Given the description of an element on the screen output the (x, y) to click on. 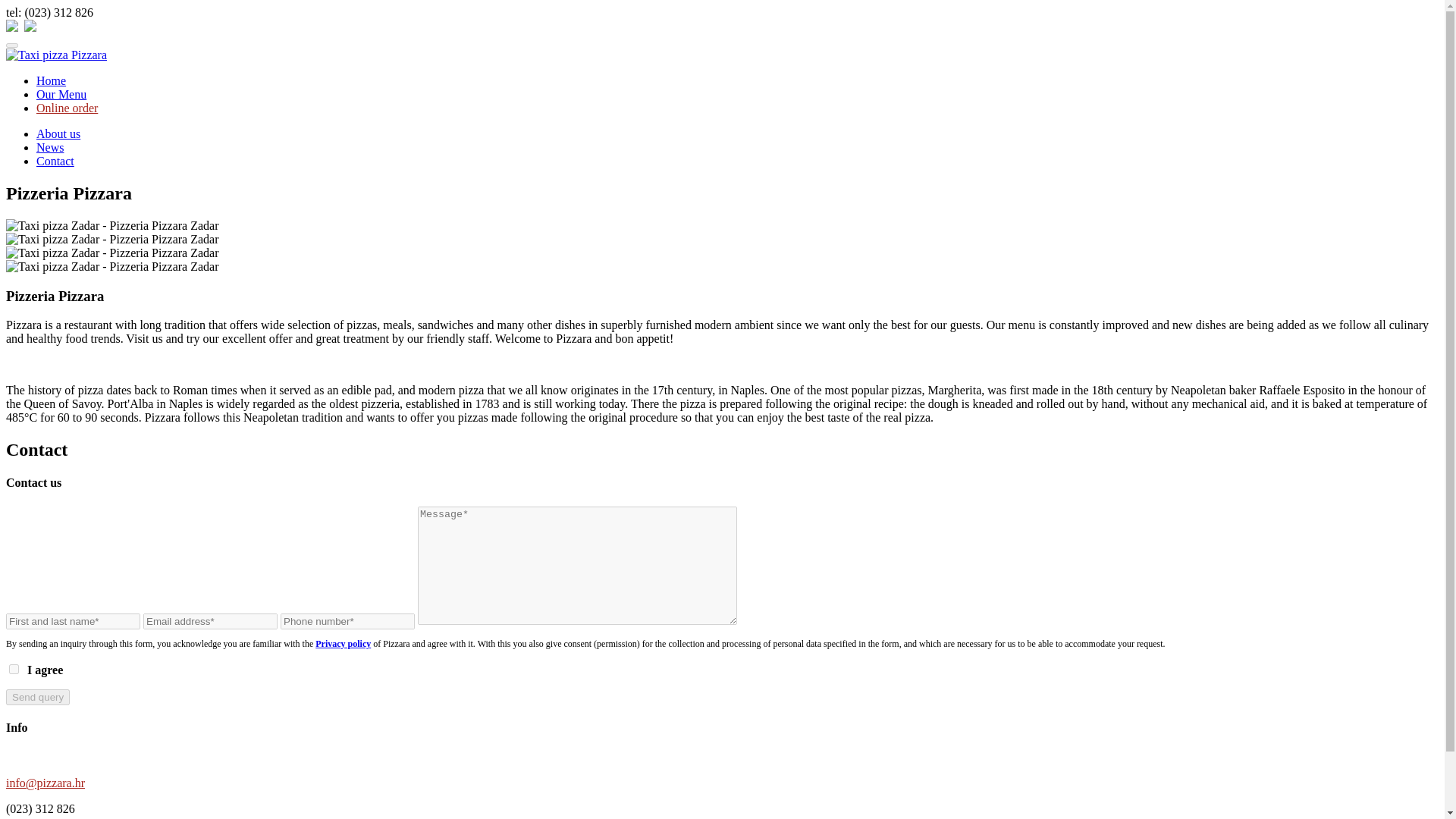
Privacy policy (343, 643)
Home (50, 80)
News (50, 146)
on (13, 669)
Online order (66, 107)
Our Menu (60, 93)
Contact (55, 160)
Send query (37, 697)
About us (58, 133)
